Given the description of an element on the screen output the (x, y) to click on. 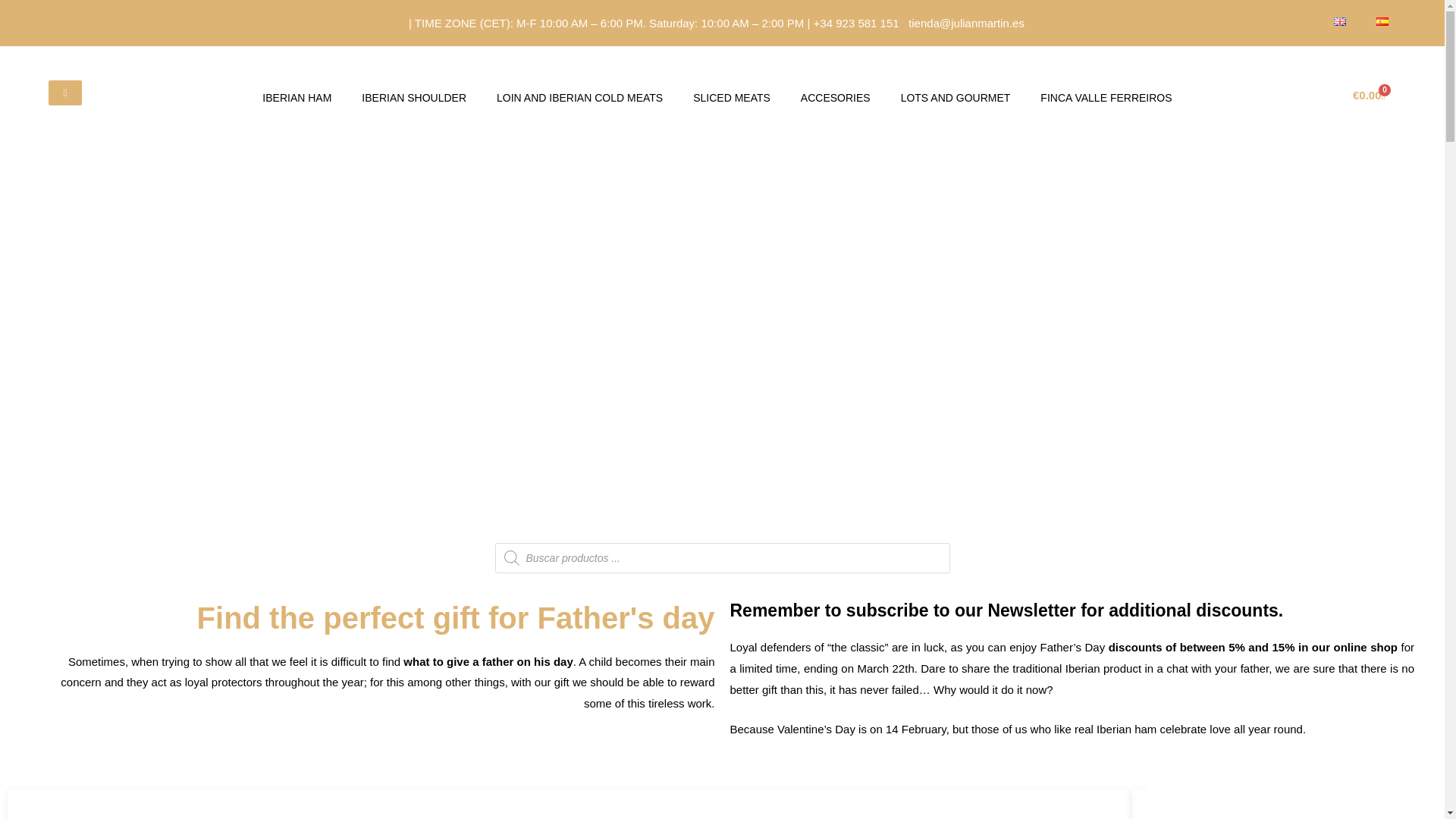
ACCESORIES (835, 97)
LOTS AND GOURMET (955, 97)
LOIN AND IBERIAN COLD MEATS (579, 97)
IBERIAN HAM (296, 97)
SLICED MEATS (732, 97)
FINCA VALLE FERREIROS (1105, 97)
IBERIAN SHOULDER (413, 97)
